Given the description of an element on the screen output the (x, y) to click on. 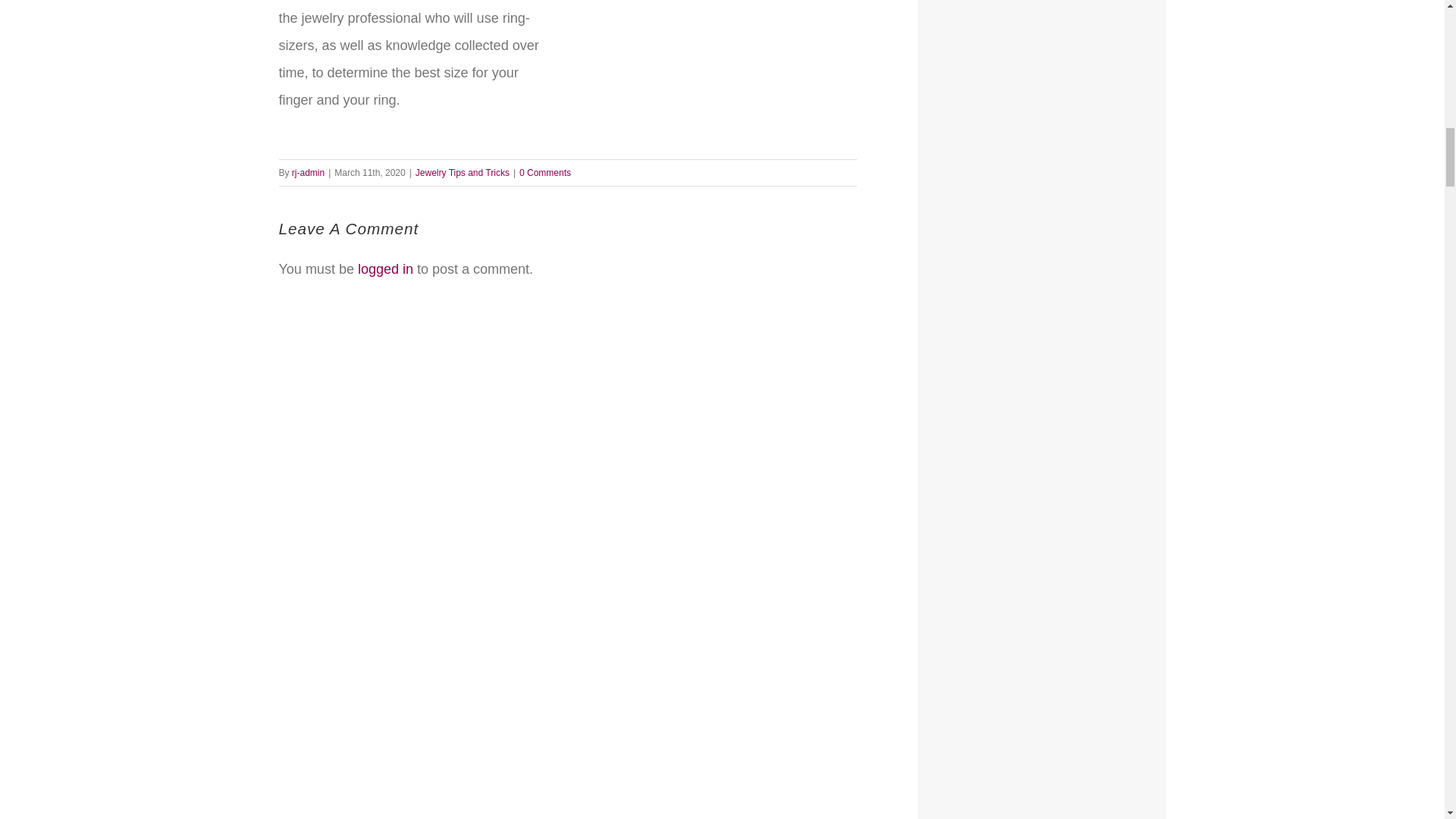
Posts by rj-admin (308, 172)
